Given the description of an element on the screen output the (x, y) to click on. 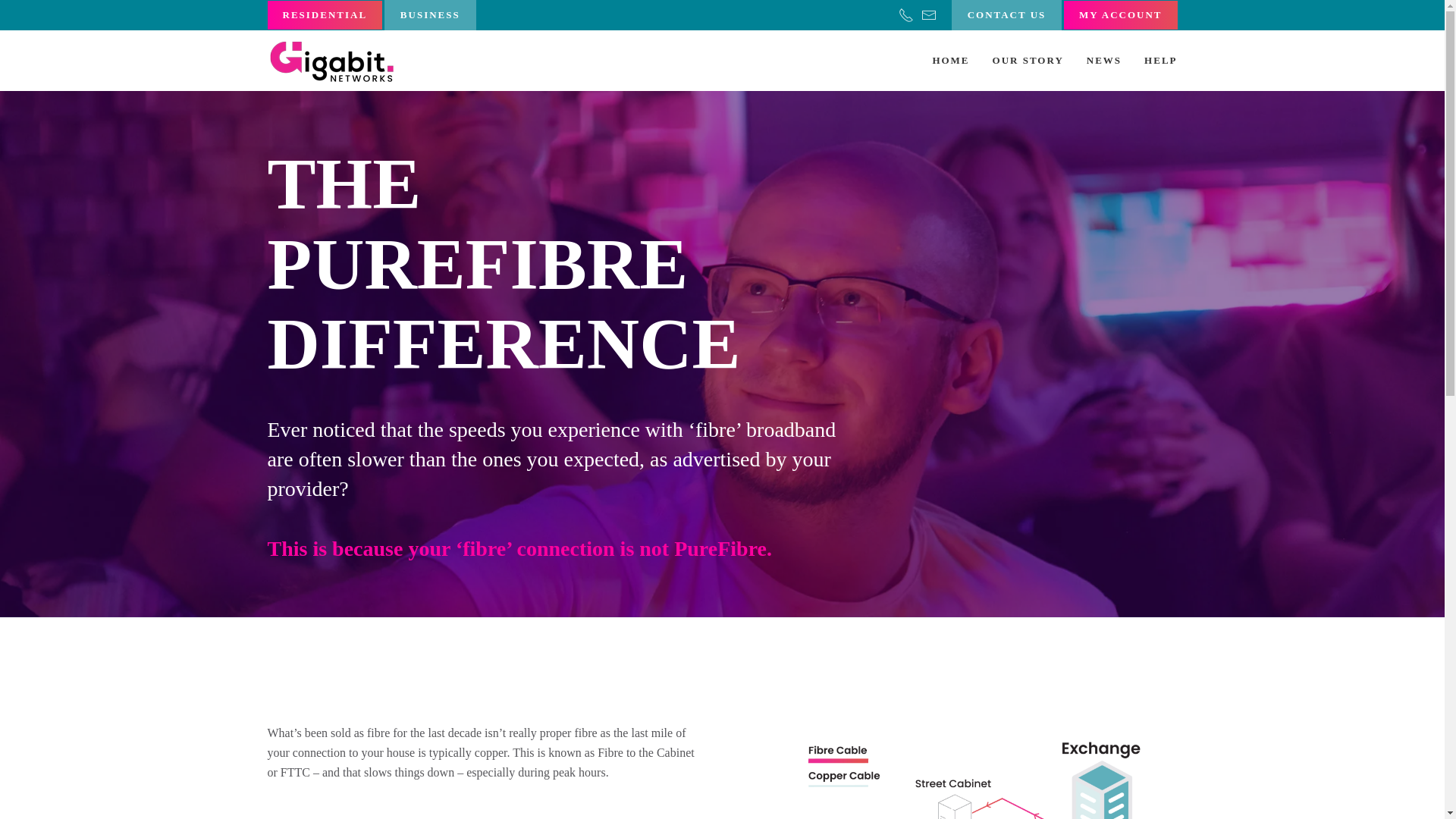
BUSINESS (430, 15)
CONTACT US (1007, 15)
OUR STORY (1028, 60)
RESIDENTIAL (323, 14)
MY ACCOUNT (1120, 14)
